Given the description of an element on the screen output the (x, y) to click on. 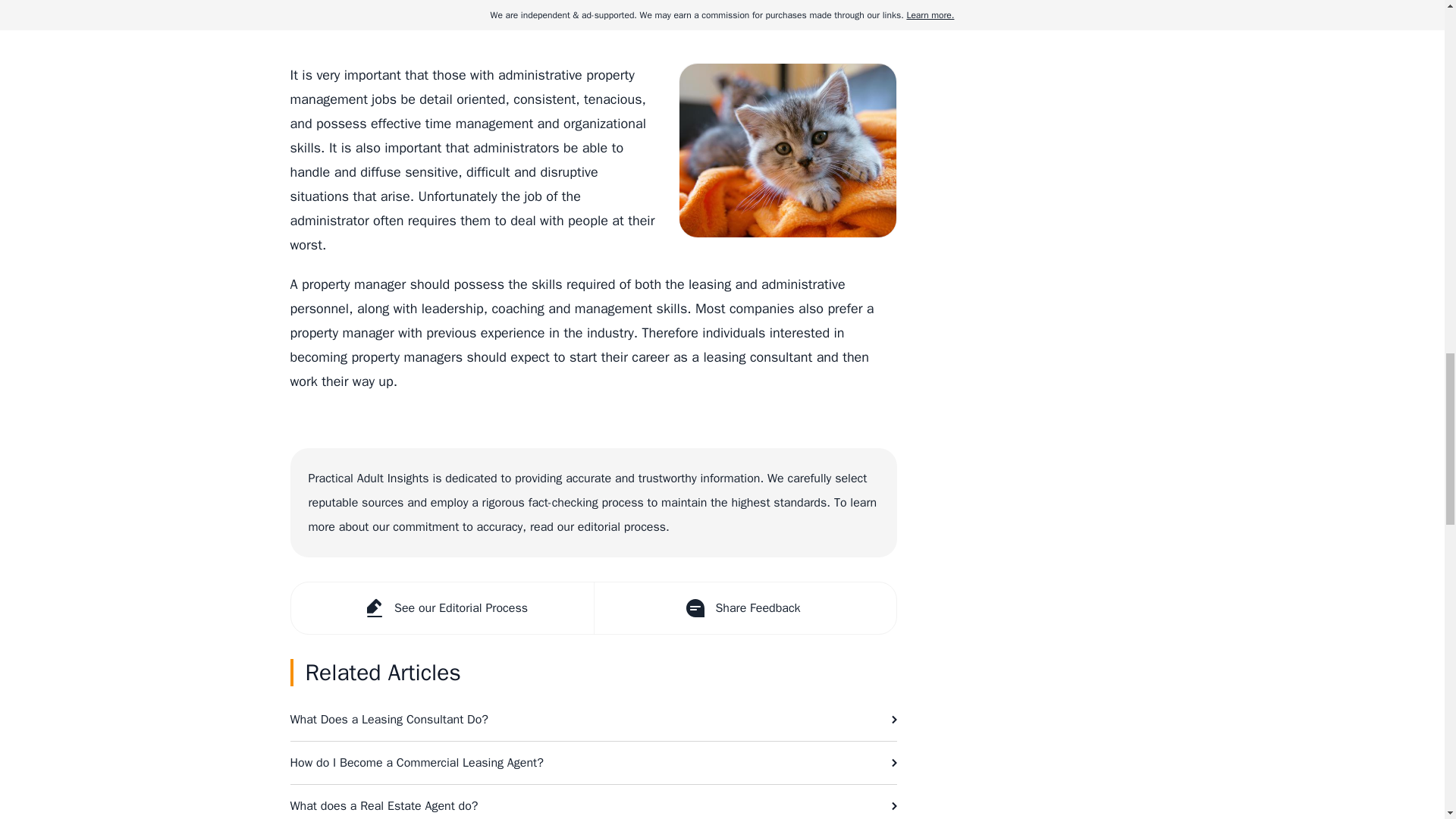
See our Editorial Process (442, 607)
What Does a Leasing Consultant Do? (592, 719)
Share Feedback (743, 607)
